Given the description of an element on the screen output the (x, y) to click on. 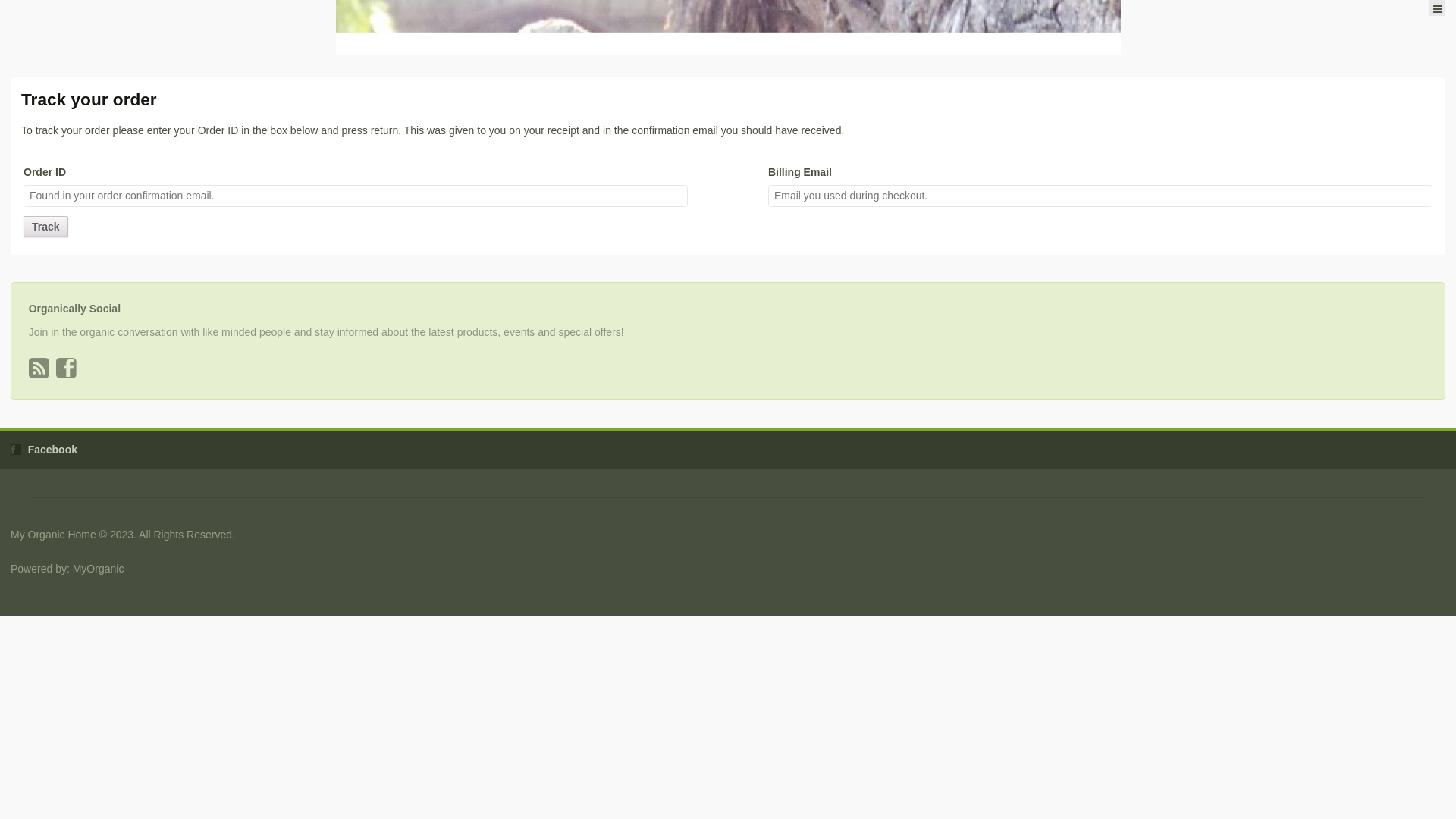
Personal and Household Organic Products Element type: hover (10, 8)
RSS Element type: hover (40, 373)
Facebook Element type: hover (68, 373)
Facebook Element type: text (52, 449)
Track Element type: text (45, 226)
